Given the description of an element on the screen output the (x, y) to click on. 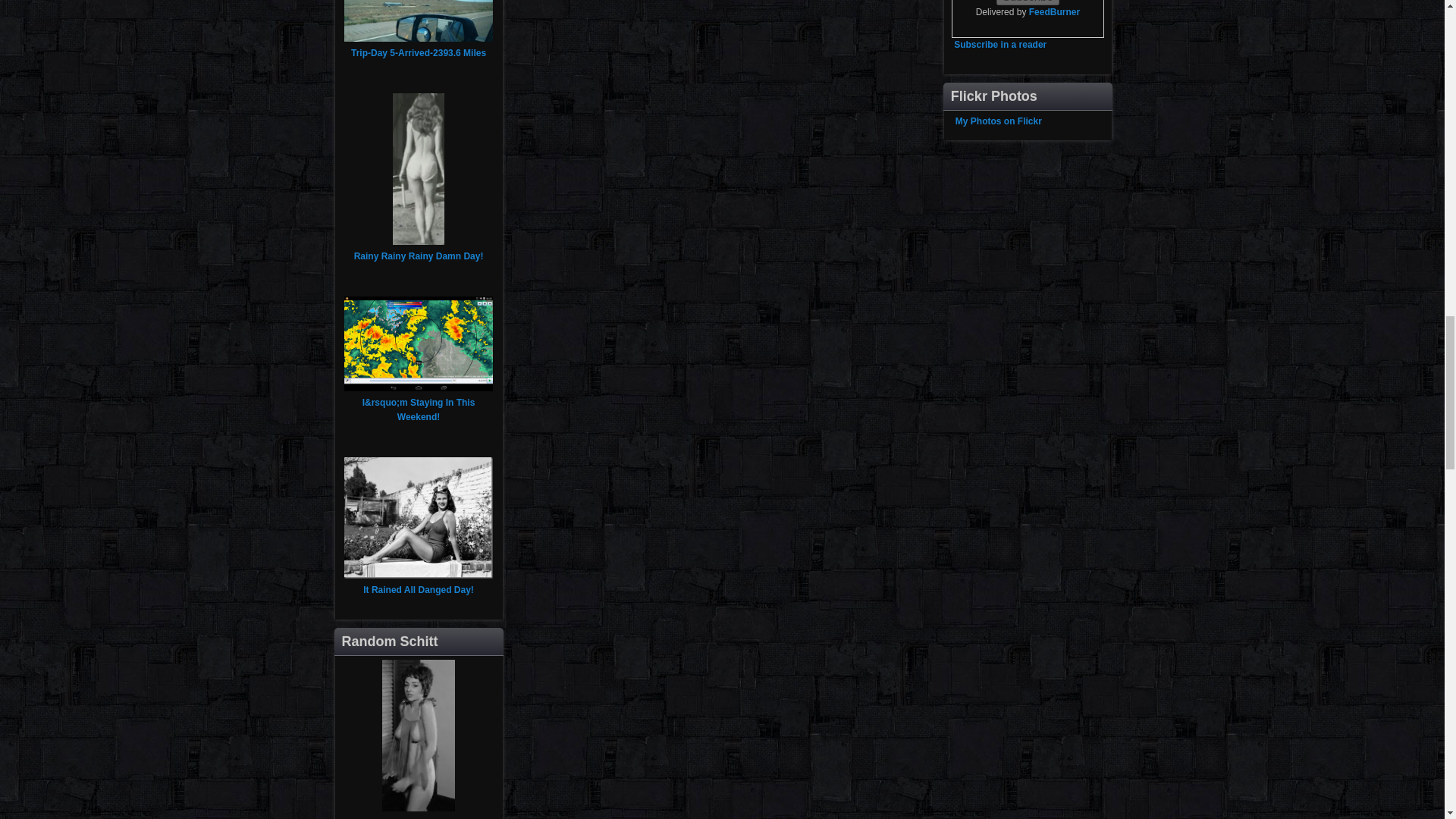
Subscribe (1027, 2)
